Given the description of an element on the screen output the (x, y) to click on. 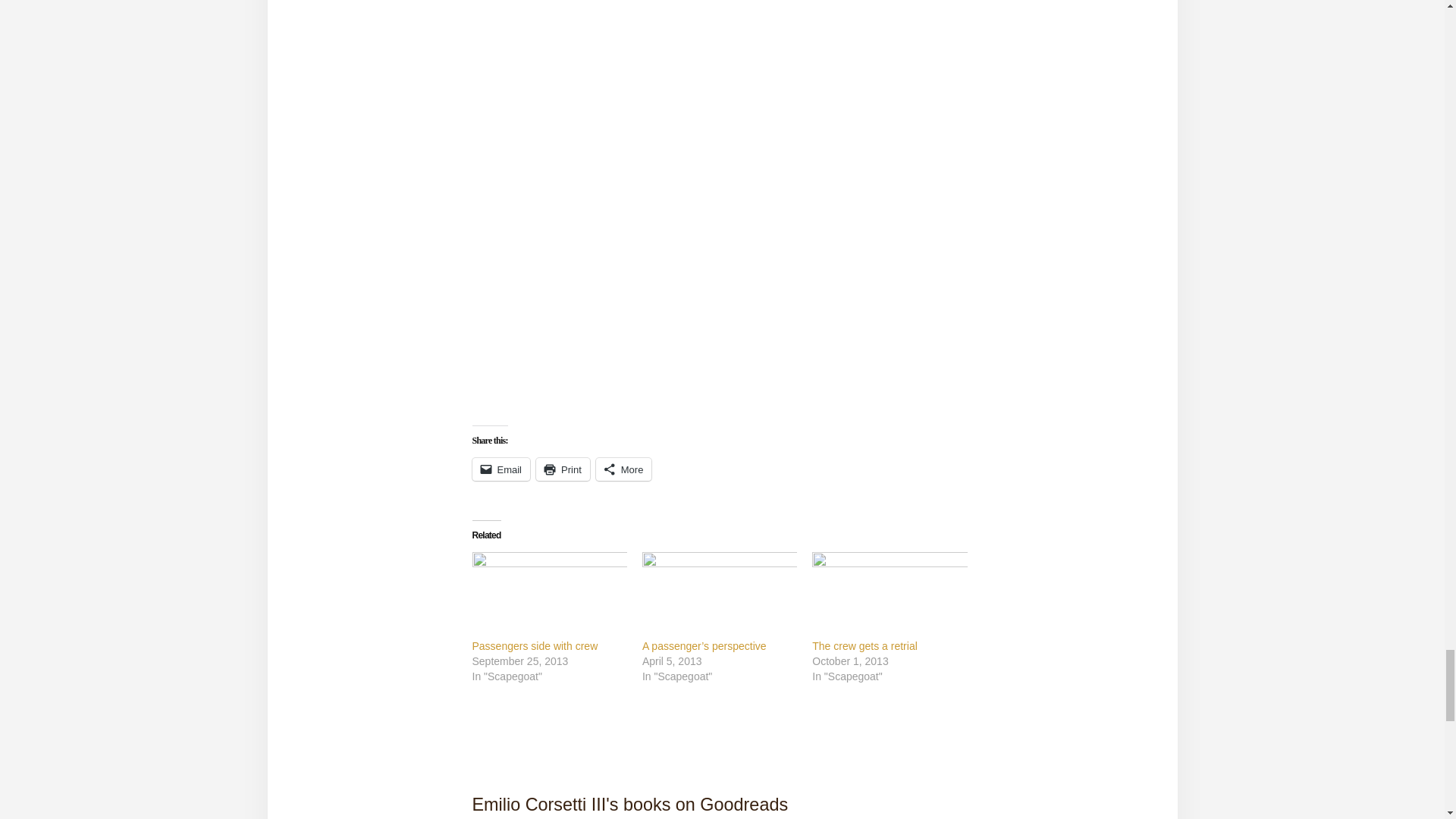
Passengers side with crew (533, 645)
The crew gets a retrial (889, 593)
The crew gets a retrial (864, 645)
Click to print (562, 468)
Click to email a link to a friend (500, 468)
Passengers side with crew (548, 593)
